Given the description of an element on the screen output the (x, y) to click on. 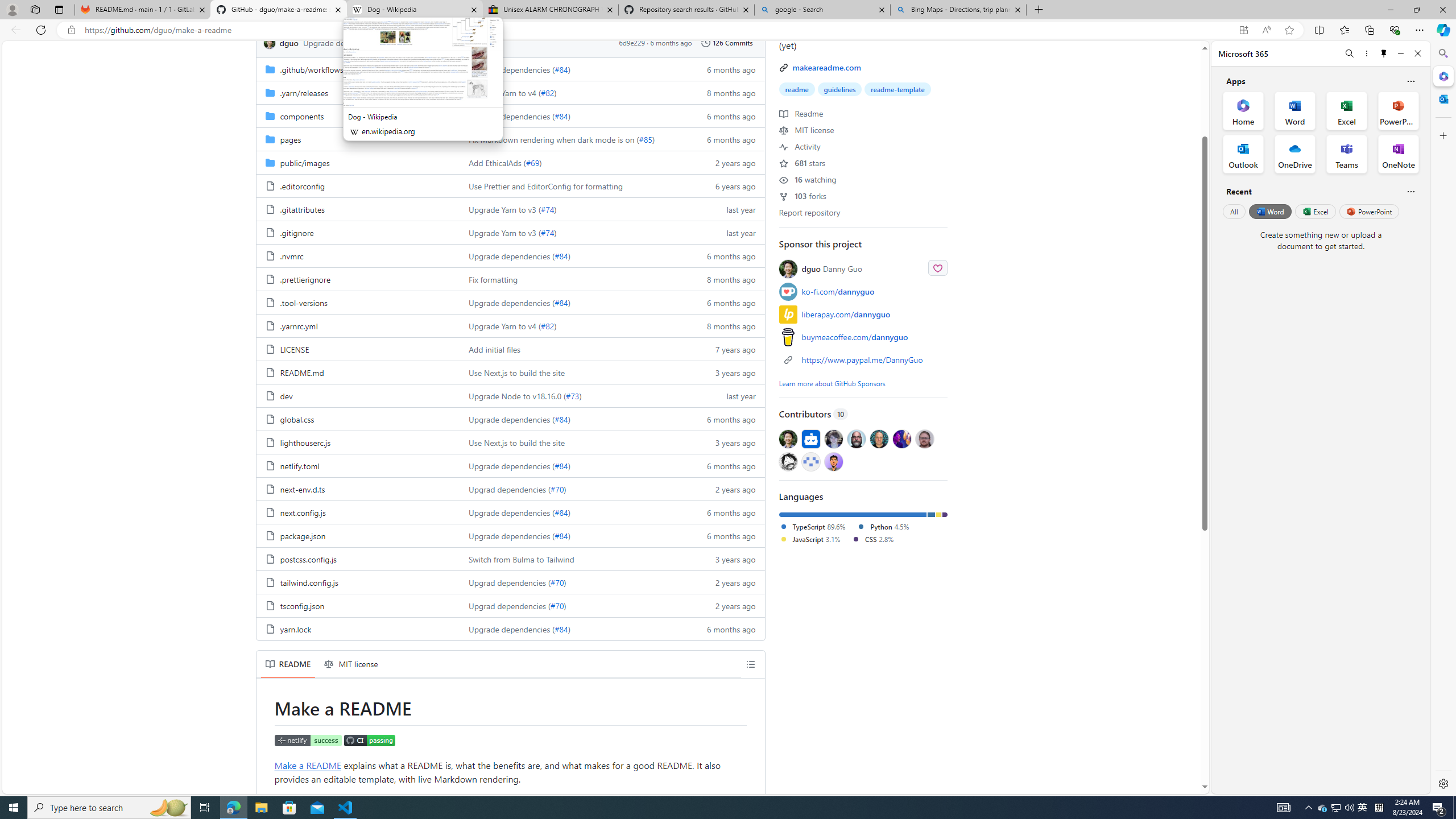
components, (Directory) (358, 115)
Class: Box-sc-g0xbh4-0 jEbBOT (510, 42)
Add EthicalAds (#69) (573, 161)
lighthouserc.js, (File) (358, 441)
@Haroenv (901, 438)
dev, (File) (358, 395)
.yarnrc.yml, (File) (298, 325)
Report repository (809, 211)
@paul-hammant (878, 438)
Upgrade Yarn to v4 (#82) (573, 325)
tsconfig.json, (File) (358, 604)
dguo (270, 42)
AutomationID: folder-row-20 (510, 535)
Close tab (1017, 9)
AutomationID: folder-row-16 (510, 441)
